Given the description of an element on the screen output the (x, y) to click on. 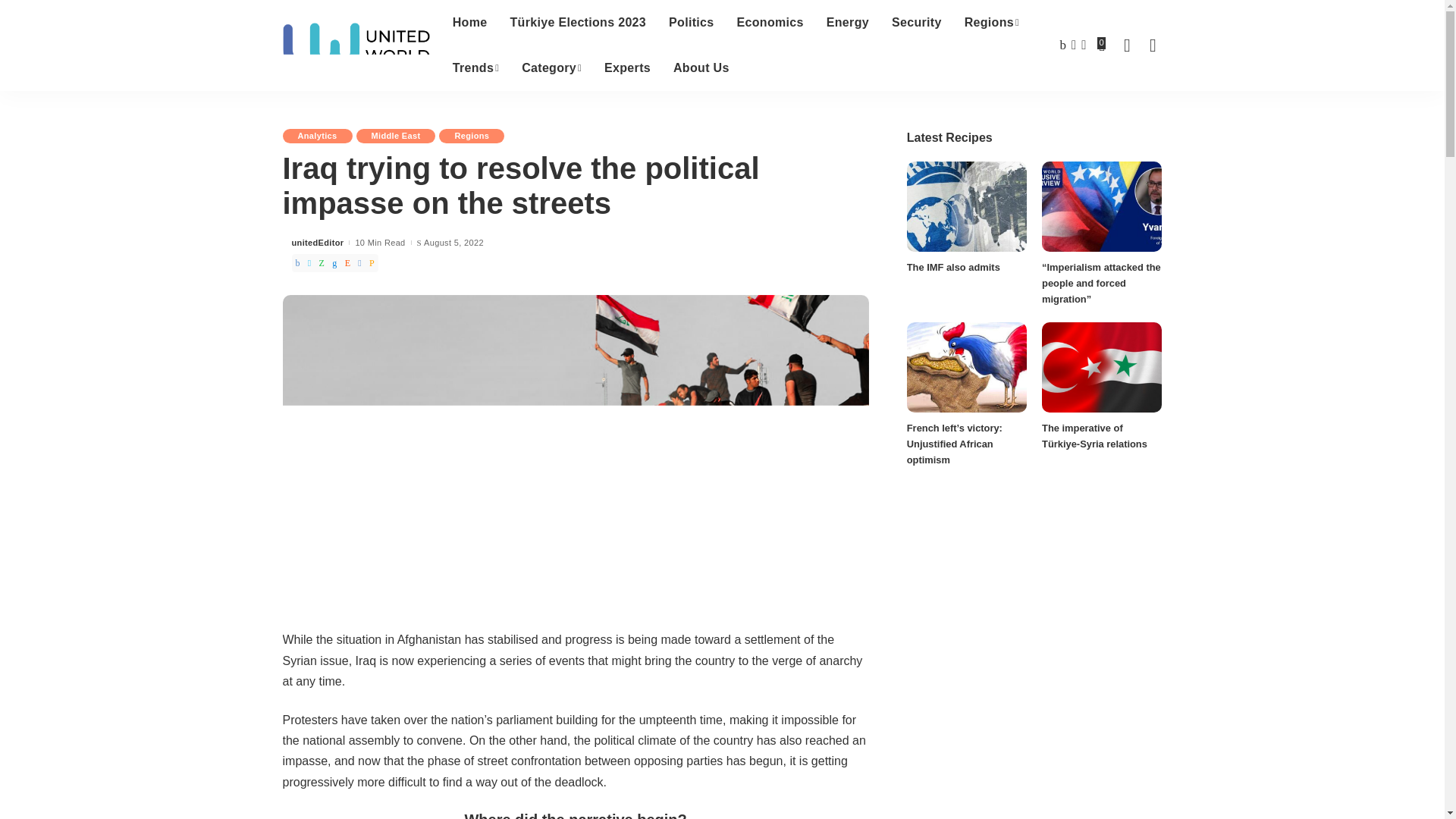
Bookmarks (1101, 45)
United World International (355, 44)
